Given the description of an element on the screen output the (x, y) to click on. 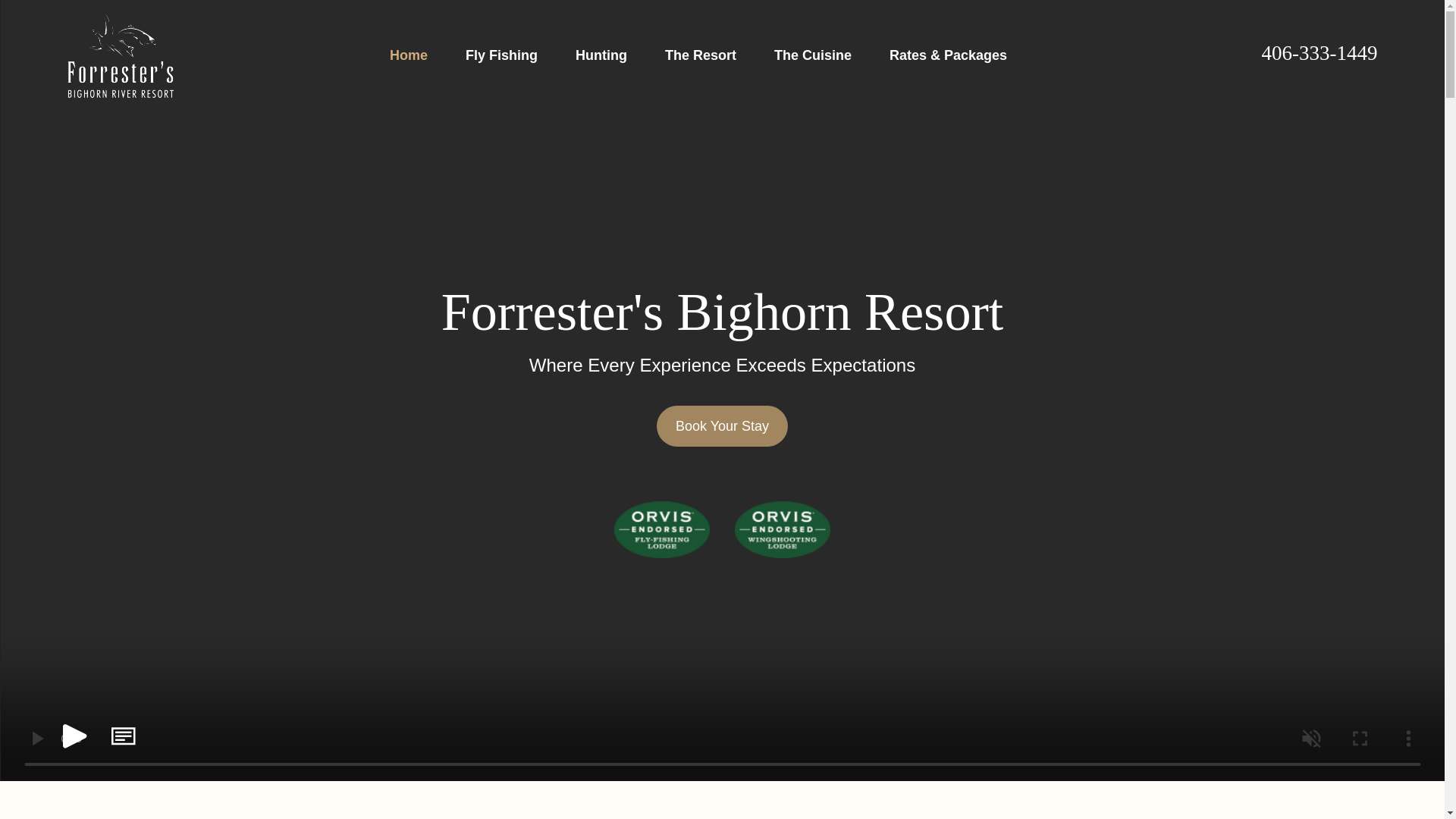
The Resort (700, 55)
Hunting (601, 55)
Home (119, 55)
Fly Fishing (501, 55)
Read the background video's description (123, 736)
The Cuisine (812, 55)
